Given the description of an element on the screen output the (x, y) to click on. 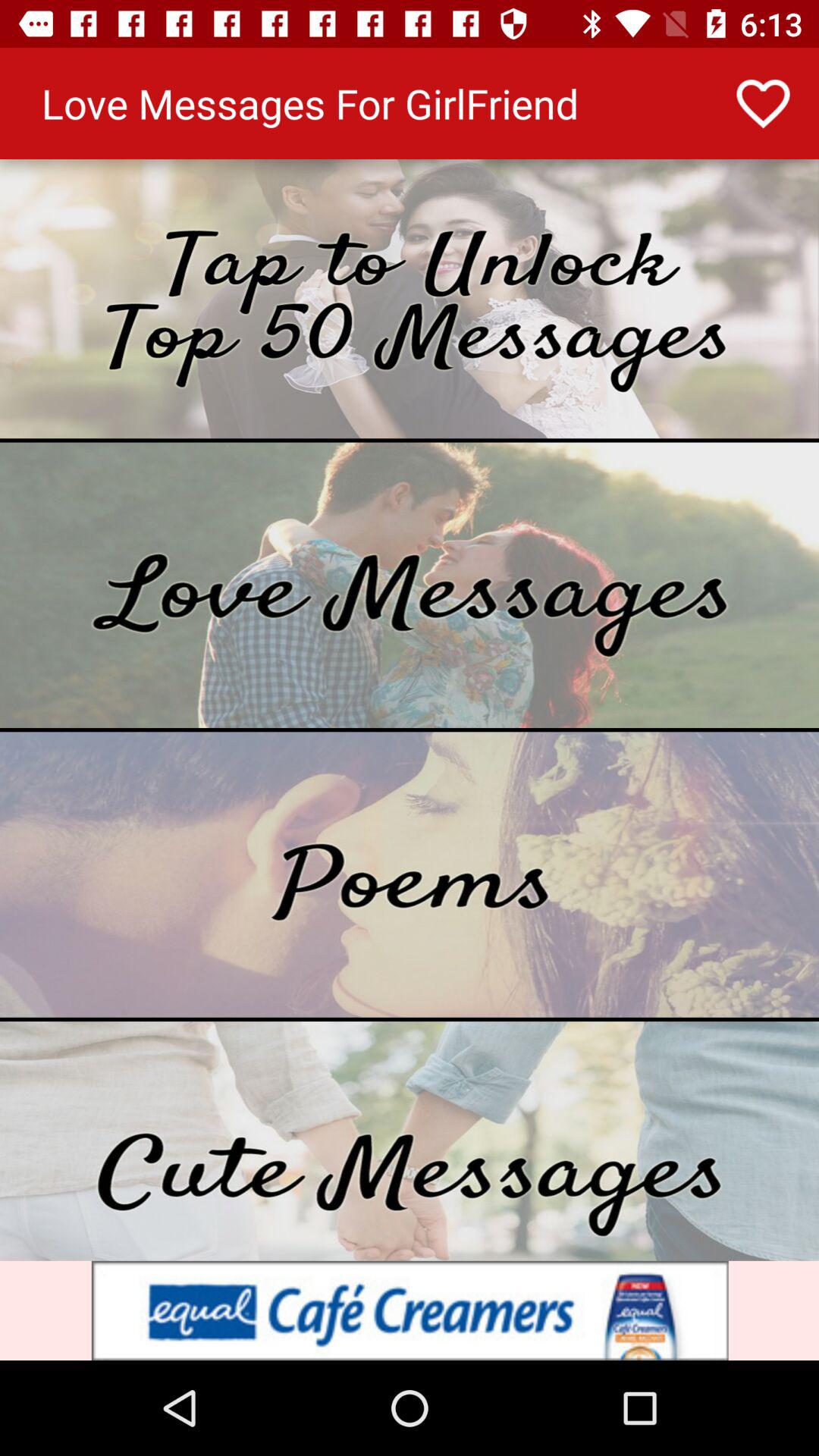
view advertisement (409, 1310)
